Given the description of an element on the screen output the (x, y) to click on. 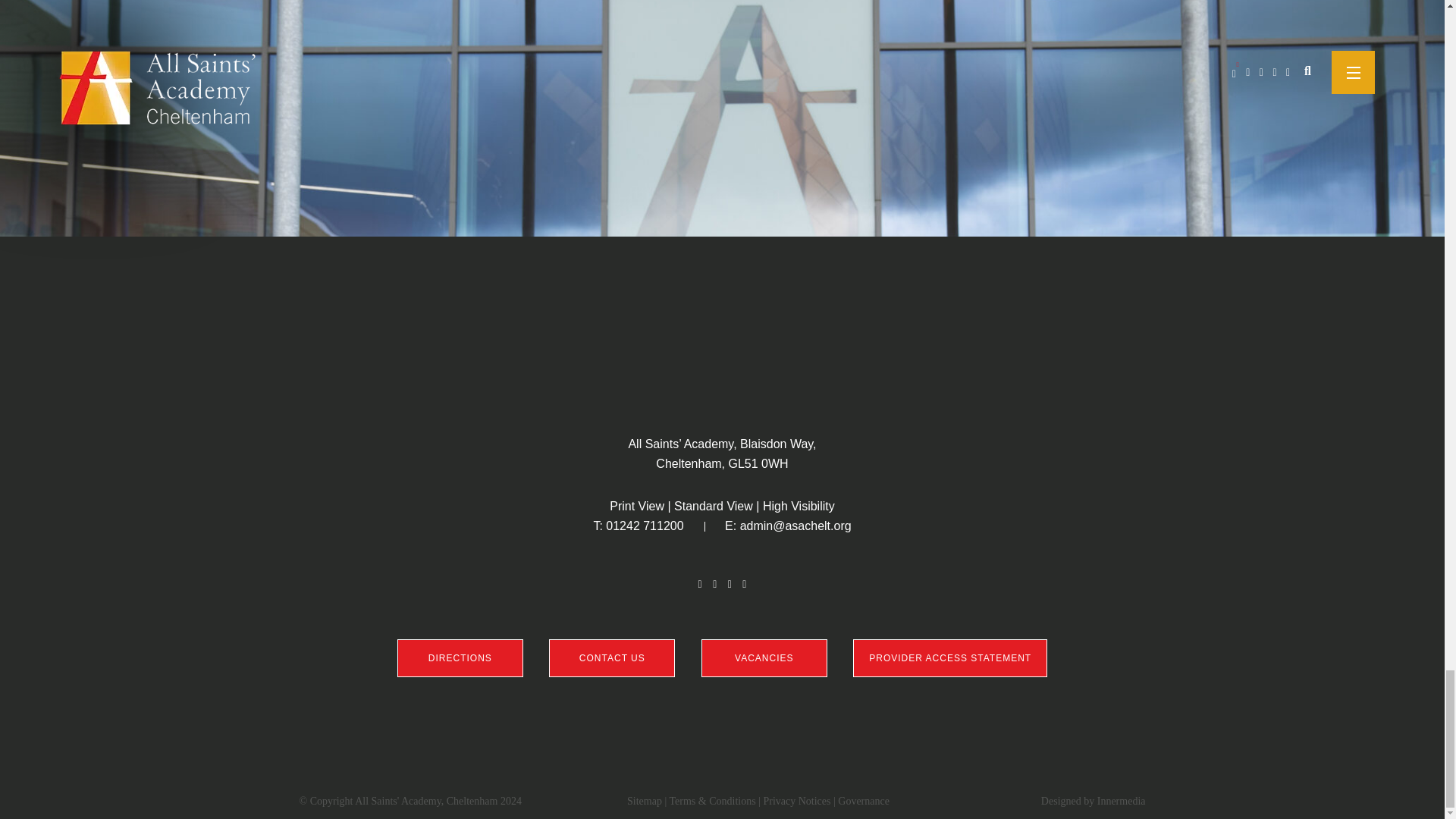
Switch to Print (636, 505)
Switch to High Visibility (798, 505)
Switch to Standard Visibility (713, 505)
